Given the description of an element on the screen output the (x, y) to click on. 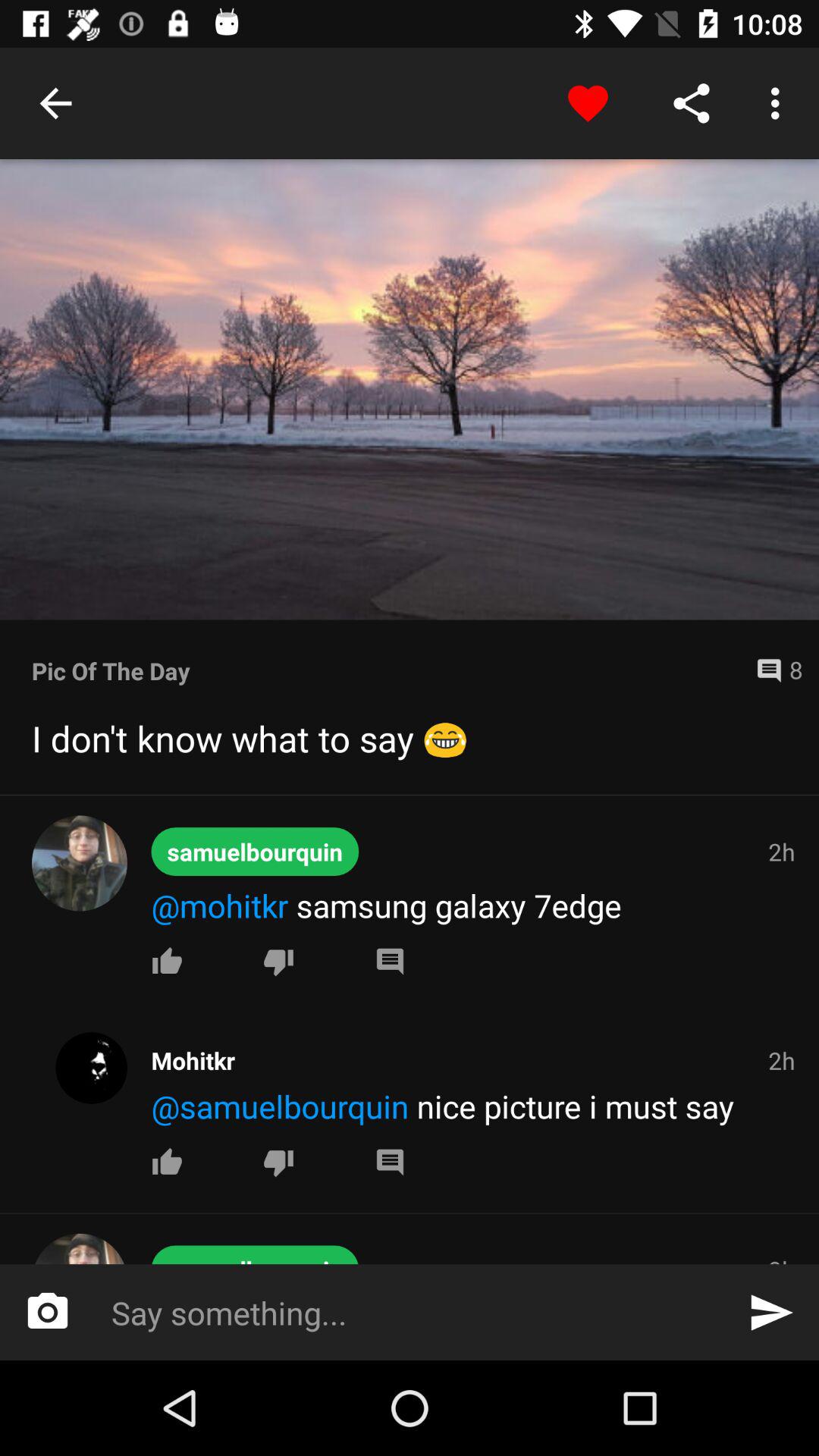
jump until 8 icon (773, 670)
